Given the description of an element on the screen output the (x, y) to click on. 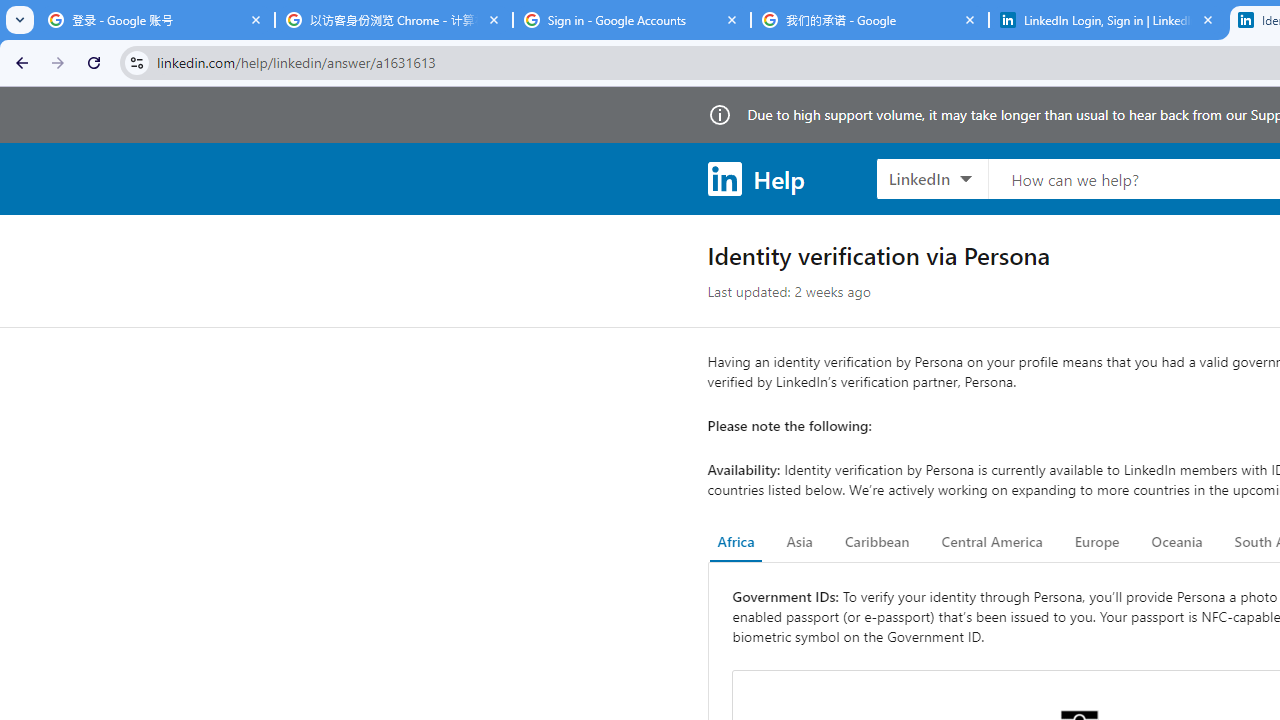
Europe (1096, 542)
Oceania (1176, 542)
Caribbean (876, 542)
